Given the description of an element on the screen output the (x, y) to click on. 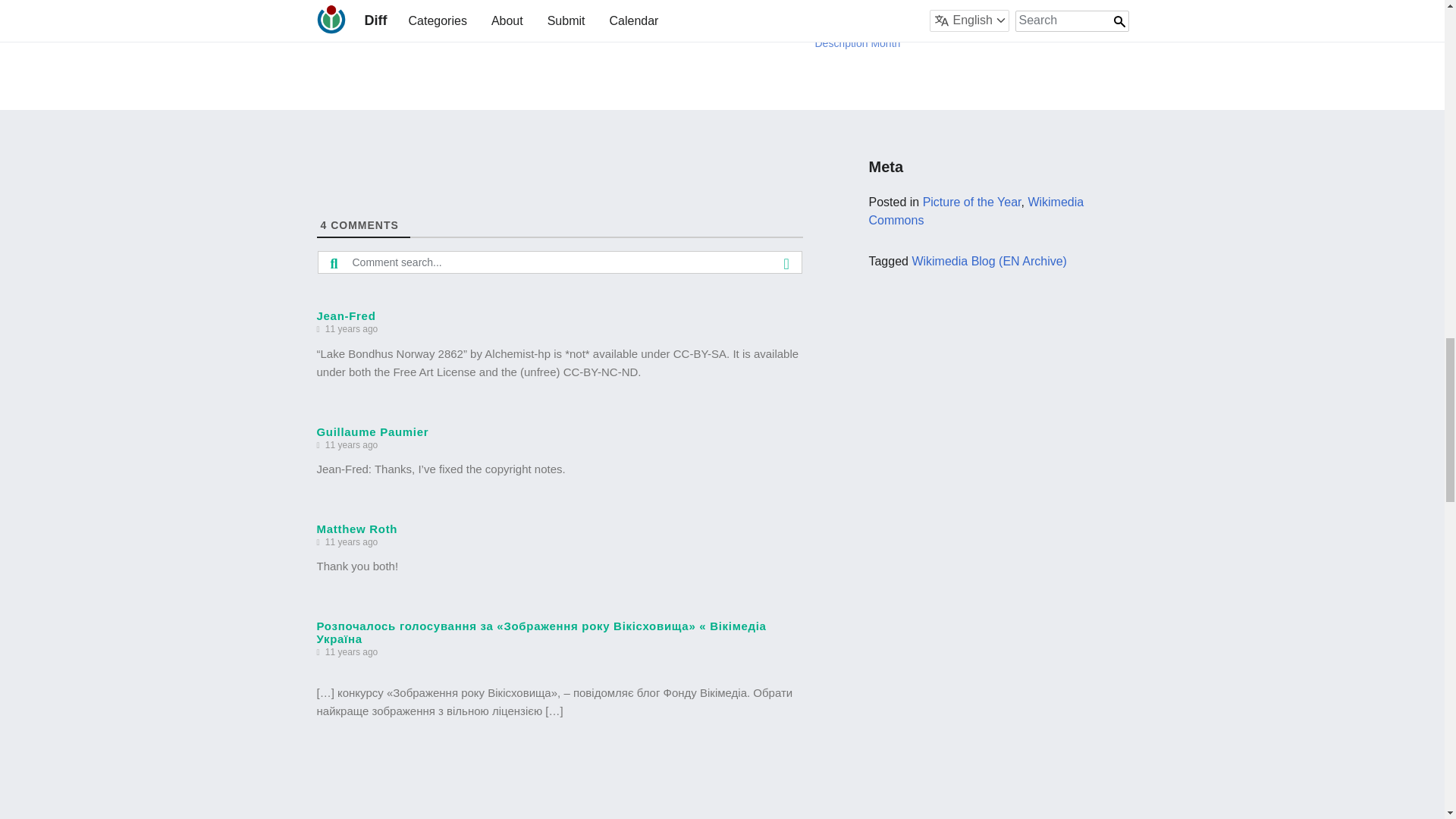
Picture of the Year (972, 201)
Wikimedia Commons (975, 210)
